Given the description of an element on the screen output the (x, y) to click on. 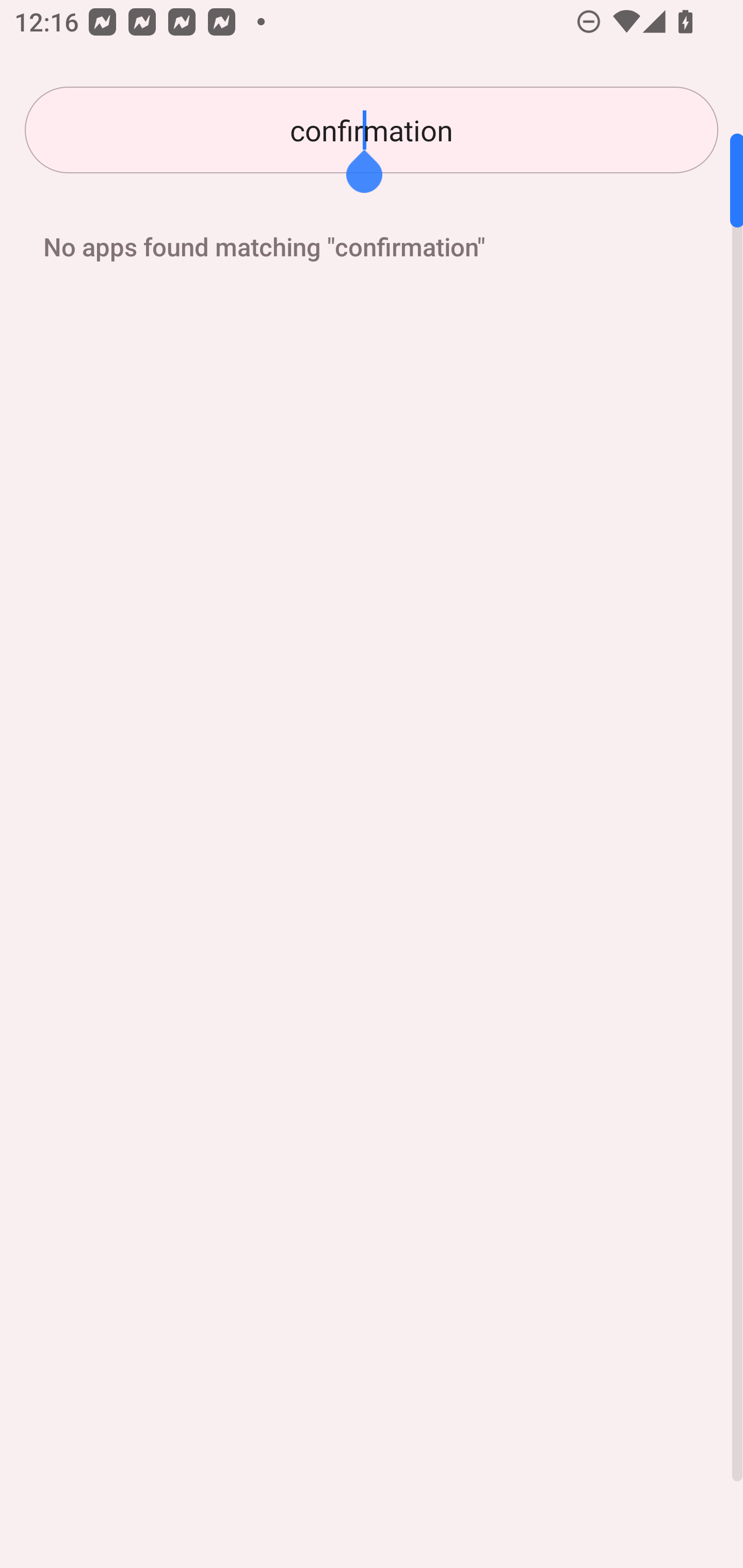
confirmation (371, 130)
